Given the description of an element on the screen output the (x, y) to click on. 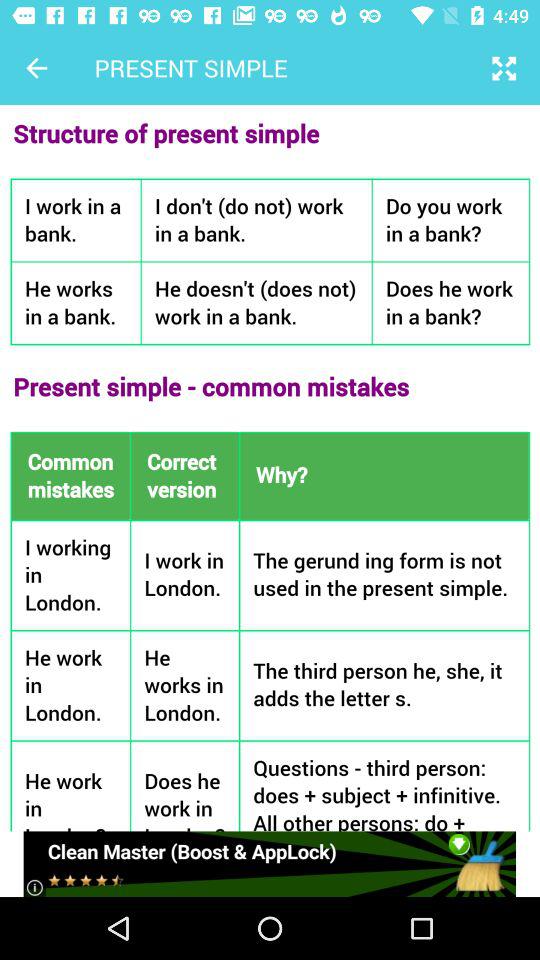
advertisement image (269, 864)
